Given the description of an element on the screen output the (x, y) to click on. 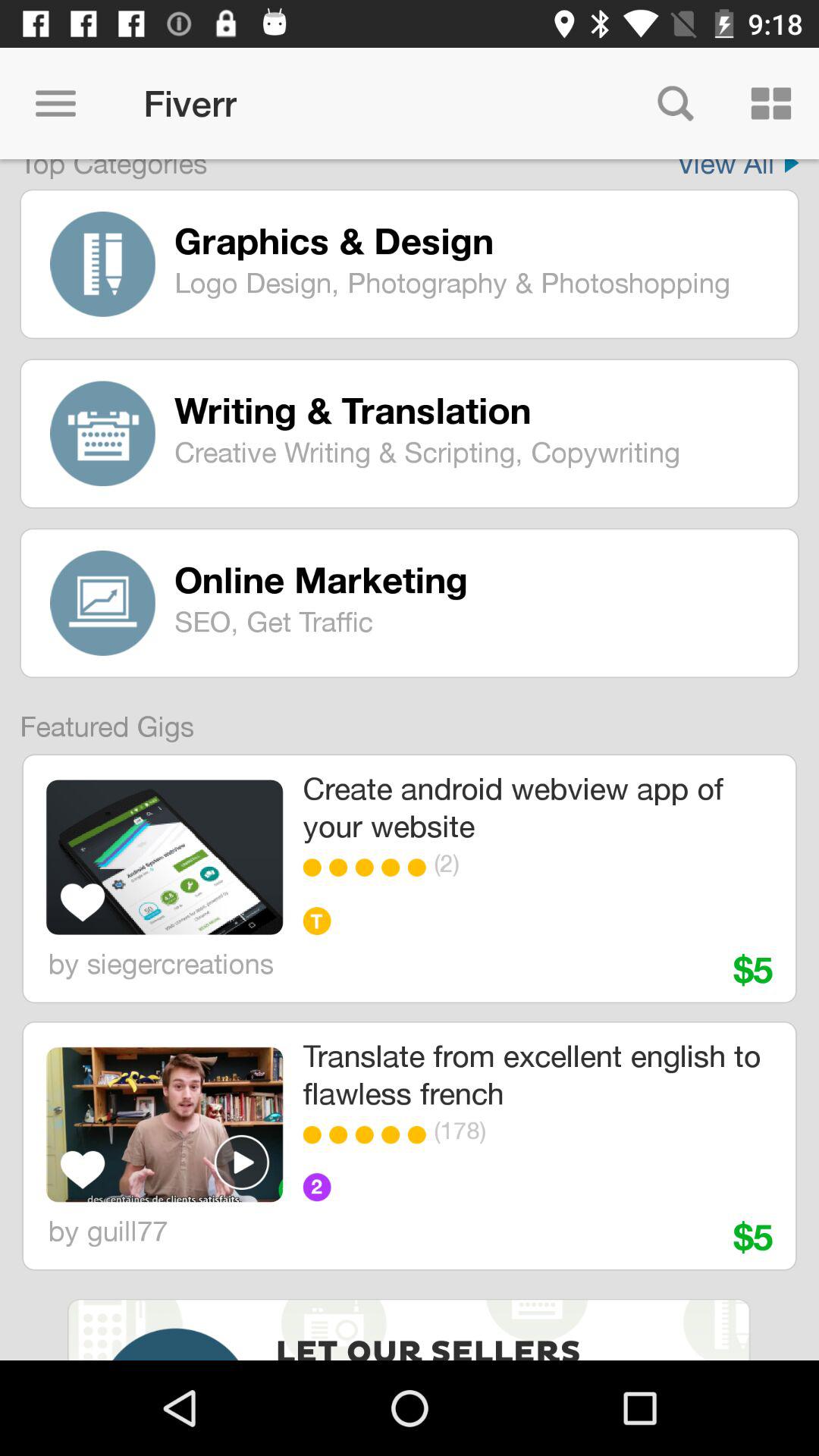
tap the icon above the translate from excellent (368, 867)
